Given the description of an element on the screen output the (x, y) to click on. 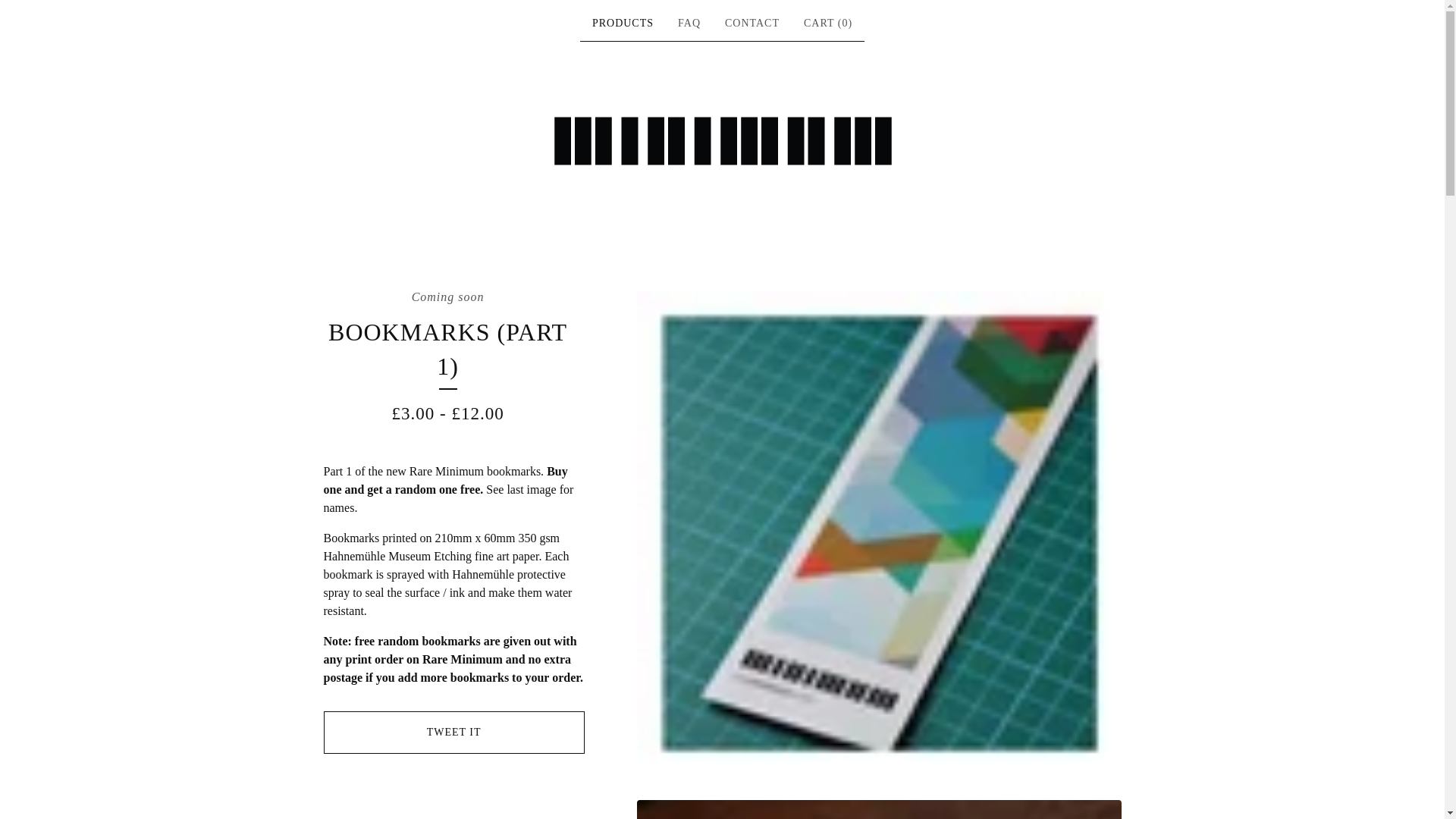
FAQ (688, 23)
Home (722, 140)
CONTACT (752, 23)
PRODUCTS (622, 23)
View FAQ (688, 23)
